Given the description of an element on the screen output the (x, y) to click on. 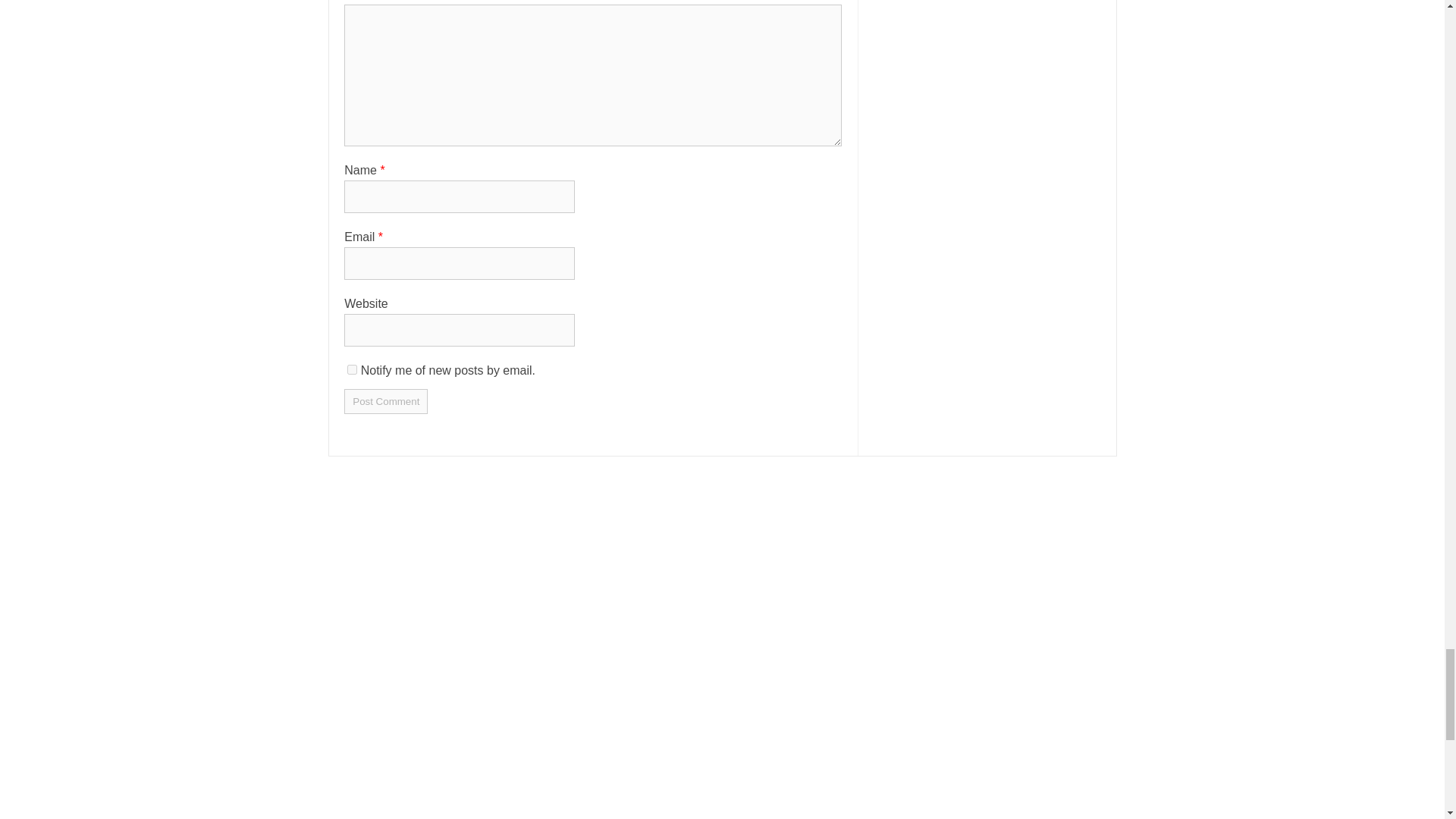
subscribe (351, 369)
Post Comment (385, 401)
Post Comment (385, 401)
